Given the description of an element on the screen output the (x, y) to click on. 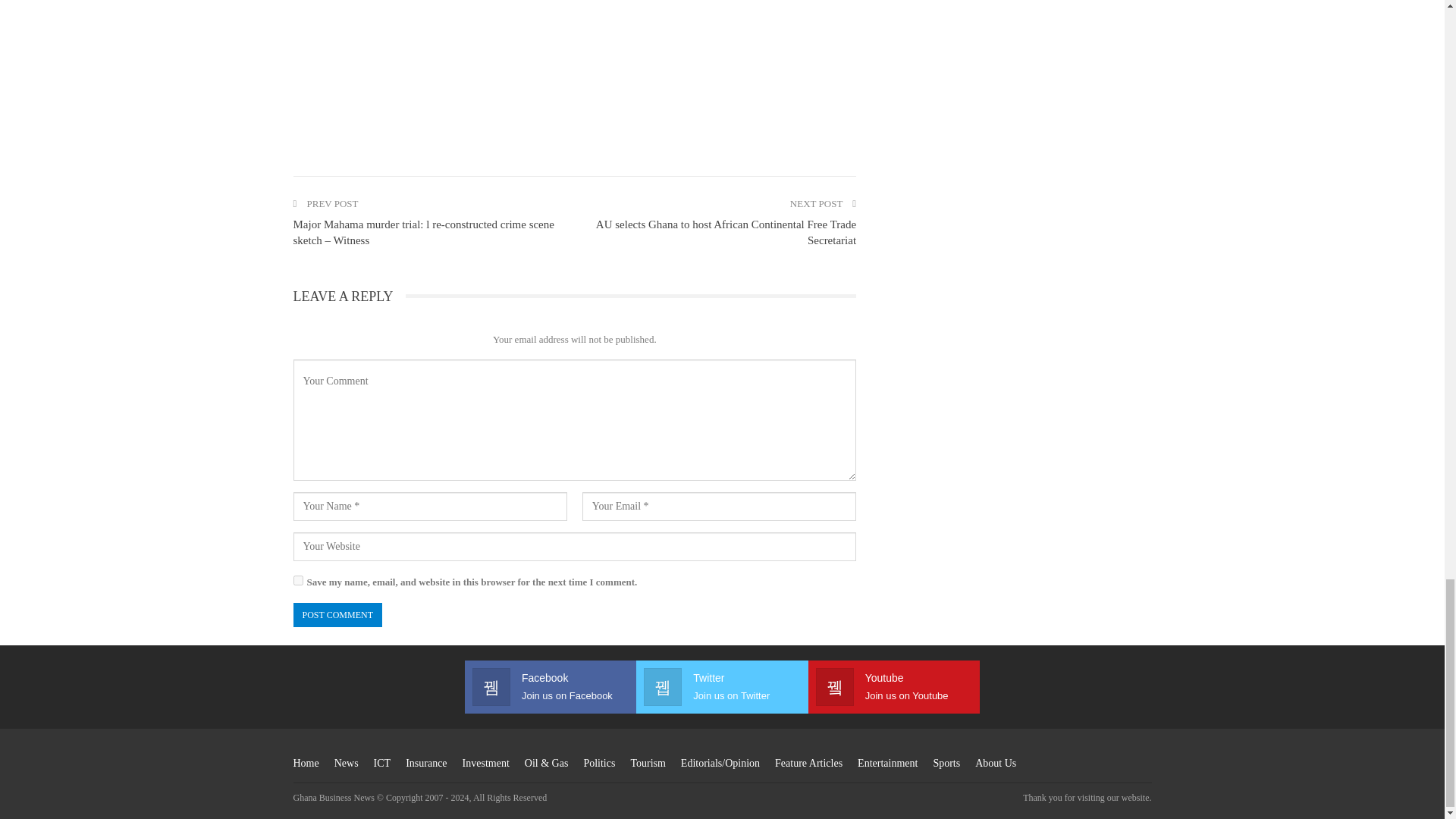
yes (297, 580)
Post Comment (336, 615)
Post Comment (336, 615)
